Given the description of an element on the screen output the (x, y) to click on. 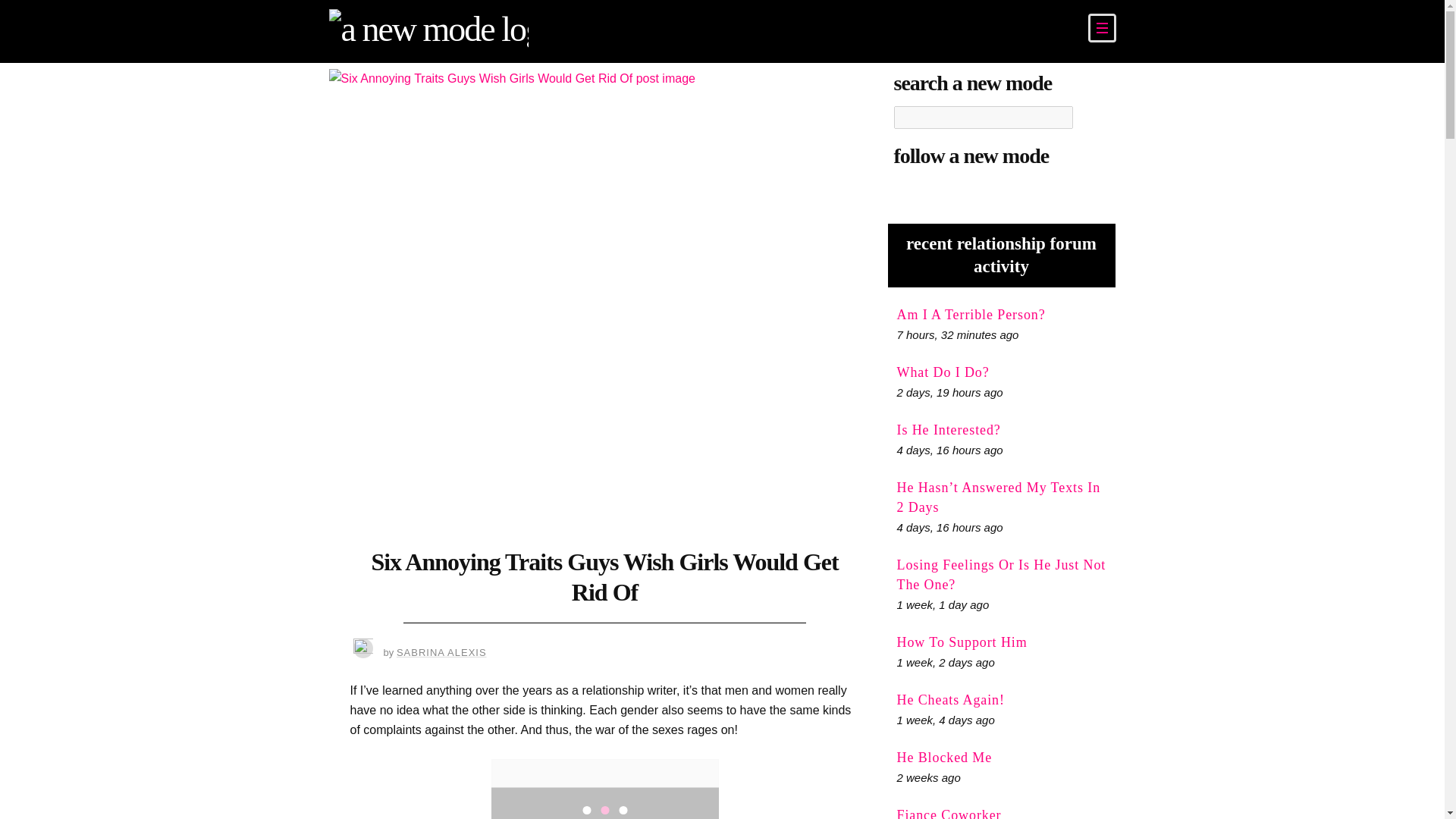
Search (1091, 117)
Search (1091, 117)
SABRINA ALEXIS (441, 652)
